Given the description of an element on the screen output the (x, y) to click on. 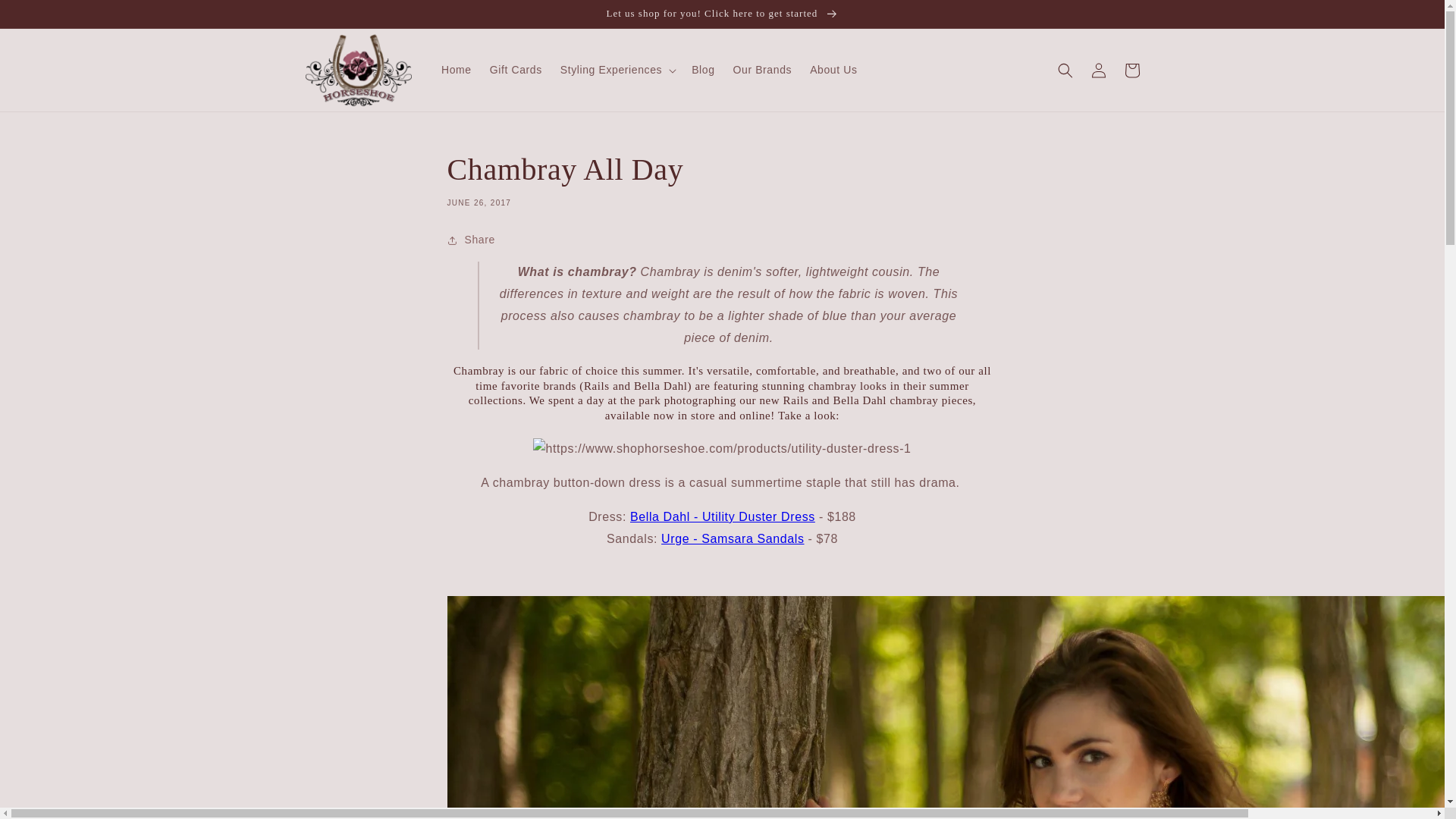
Blog (702, 69)
Cart (1131, 70)
About Us (833, 69)
Home (456, 69)
Our Brands (762, 69)
Bella Dahl - Utility Duster Dress (722, 516)
Log in (1098, 70)
Let us shop for you! Click here to get started (722, 13)
Skip to content (45, 17)
Urge - Samsara Sandals (732, 538)
Gift Cards (515, 69)
